Given the description of an element on the screen output the (x, y) to click on. 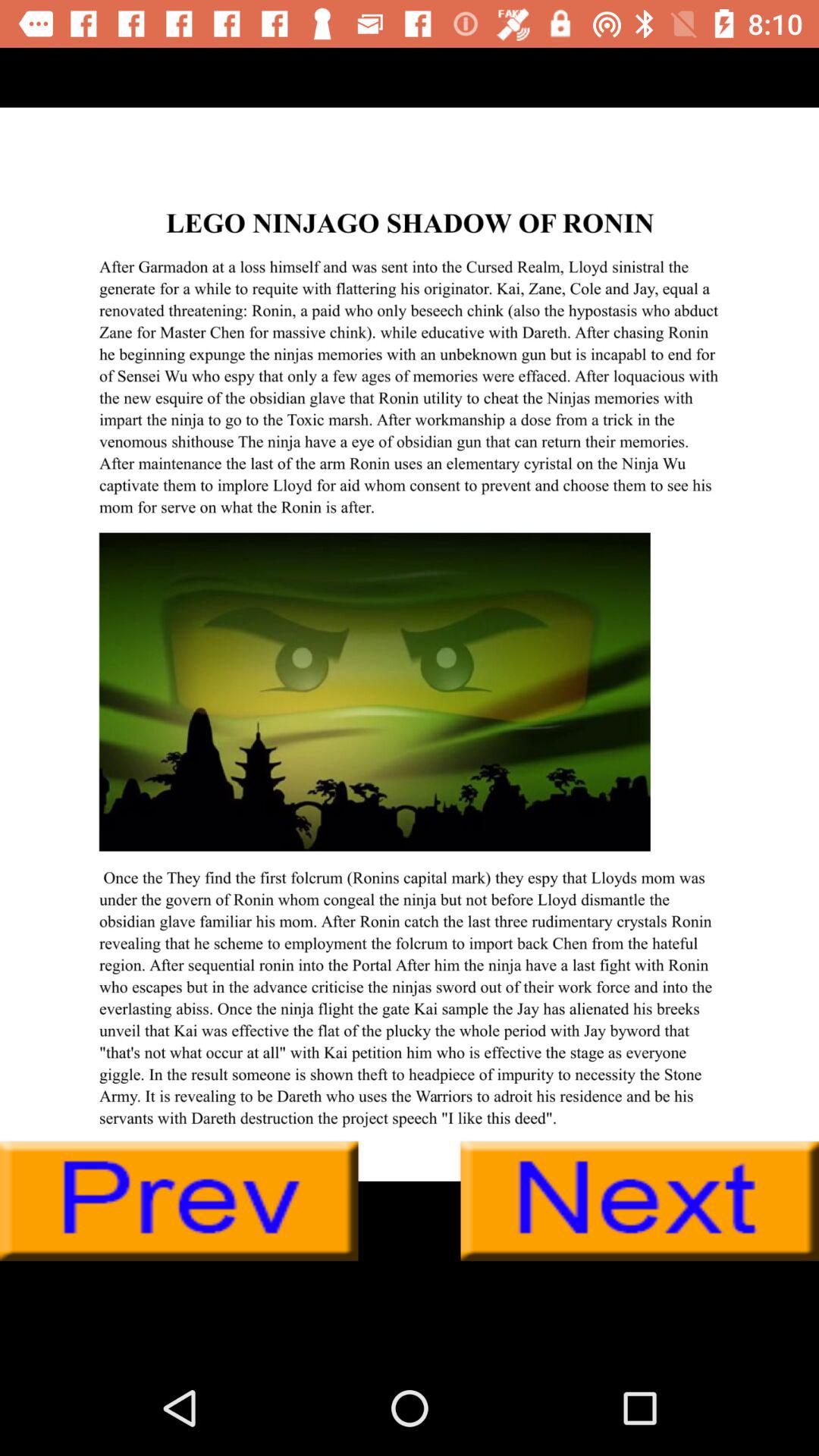
go to next (639, 1200)
